Given the description of an element on the screen output the (x, y) to click on. 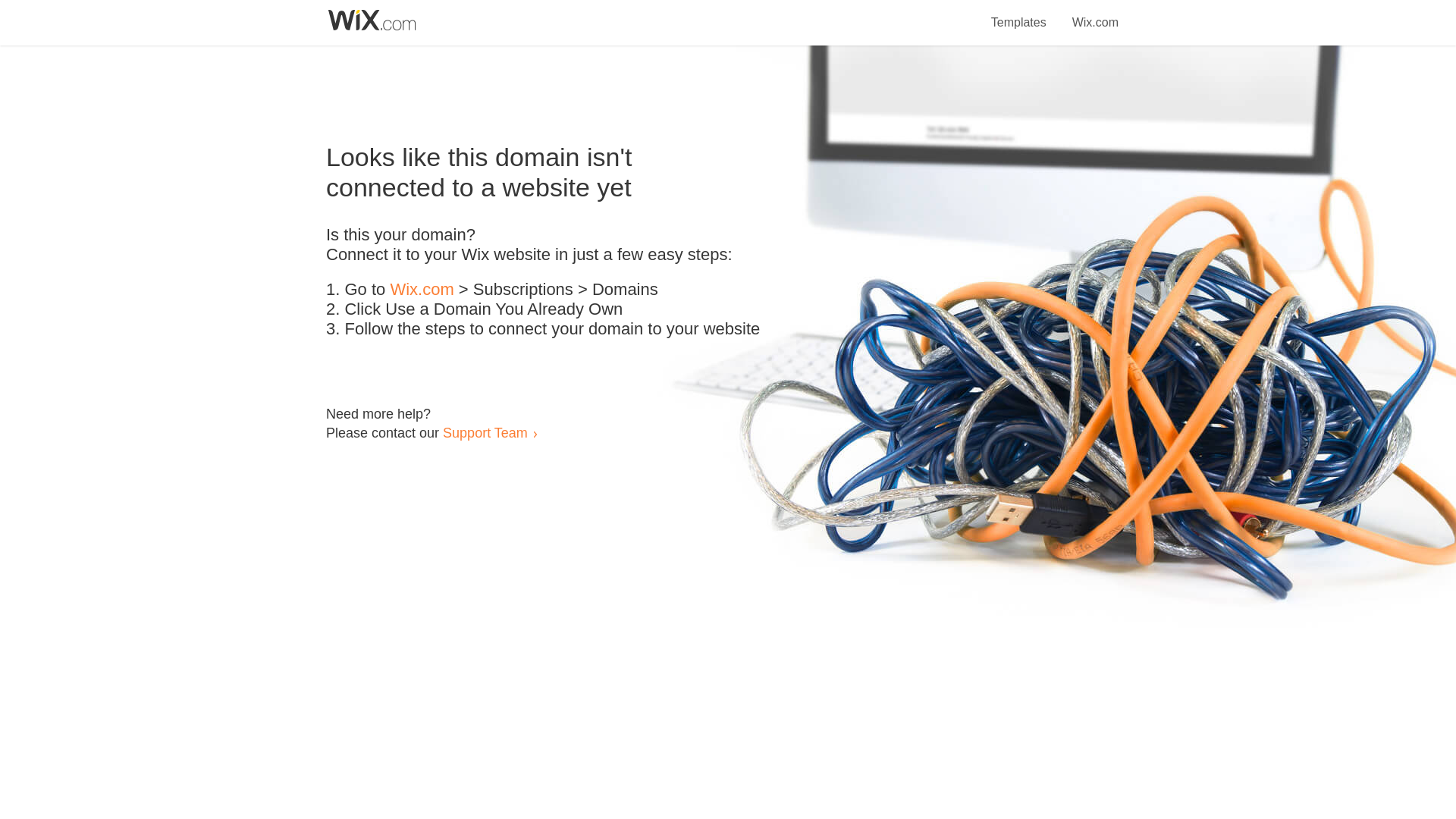
Wix.com (1095, 14)
Wix.com (421, 289)
Support Team (484, 432)
Templates (1018, 14)
